Given the description of an element on the screen output the (x, y) to click on. 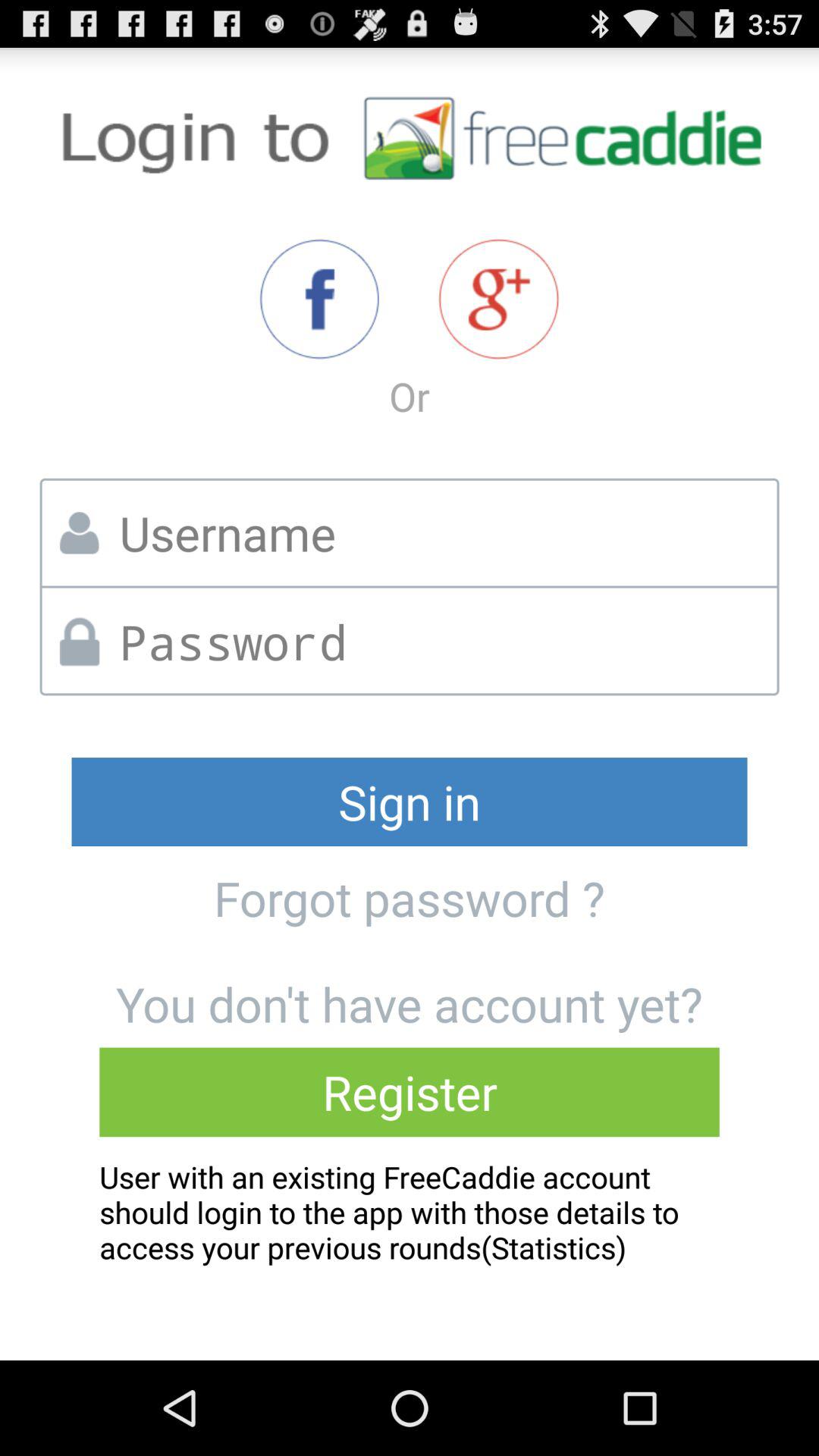
enter text (443, 641)
